Given the description of an element on the screen output the (x, y) to click on. 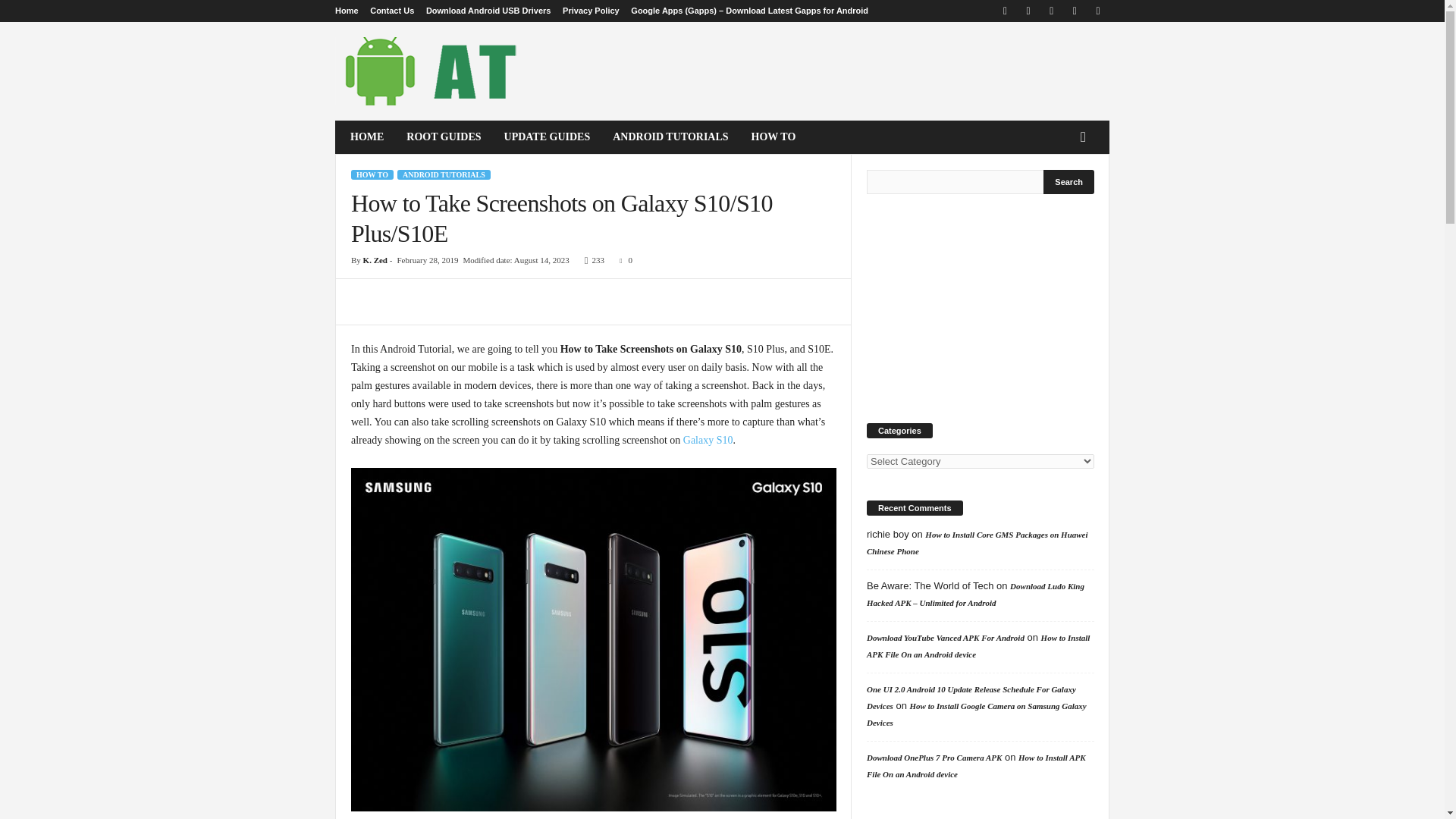
HOME (366, 136)
Android Tutorial (437, 70)
Search (1068, 181)
ANDROID TUTORIALS (443, 174)
ANDROID TUTORIALS (670, 136)
Download Android USB Drivers (488, 10)
HOW TO (773, 136)
Home (346, 10)
Android Tutorials, Rooting Guides, Update Android Tutorials (437, 70)
K. Zed (374, 259)
